Given the description of an element on the screen output the (x, y) to click on. 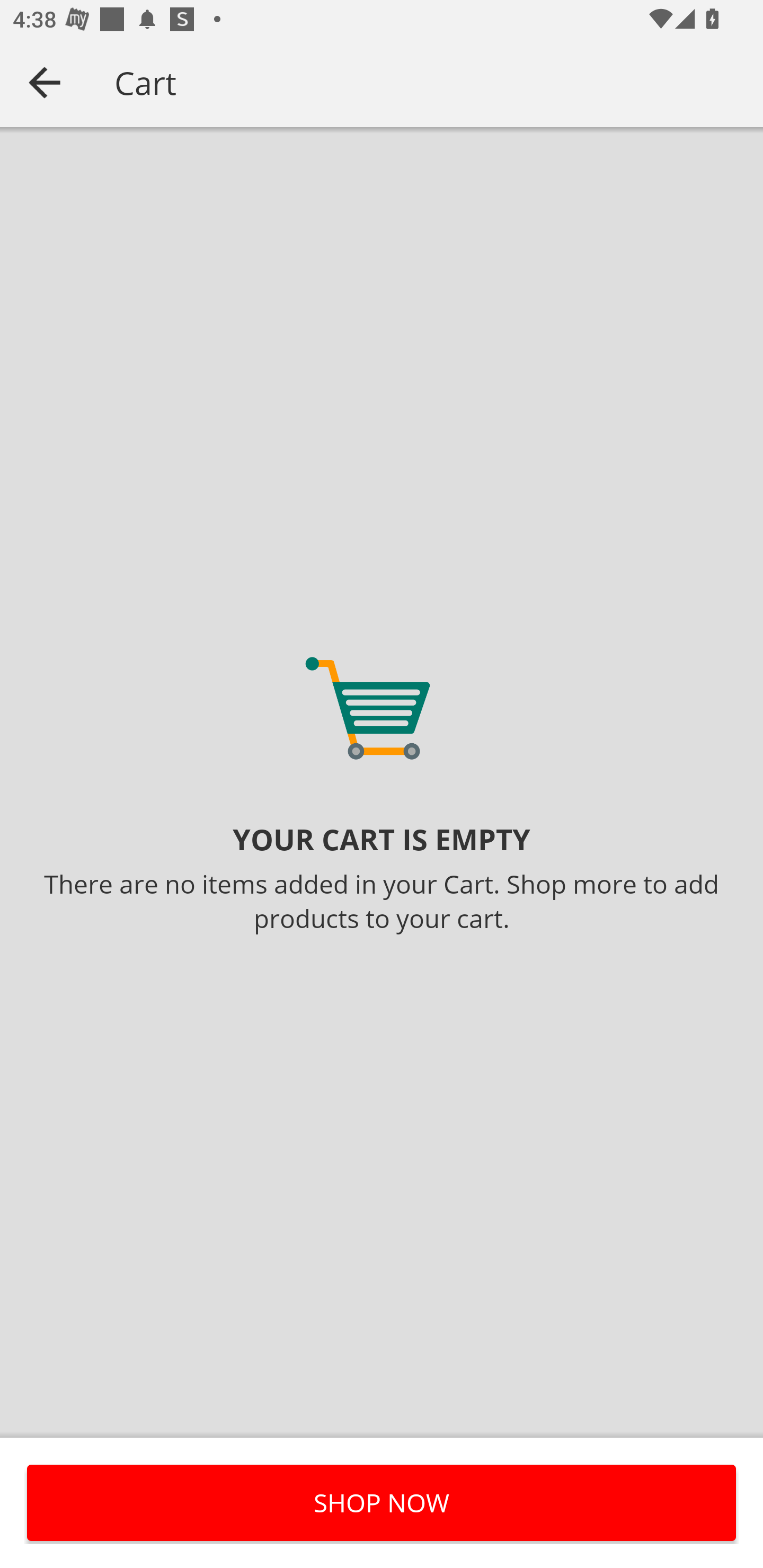
Navigate up (44, 82)
SHOP NOW (381, 1502)
